Given the description of an element on the screen output the (x, y) to click on. 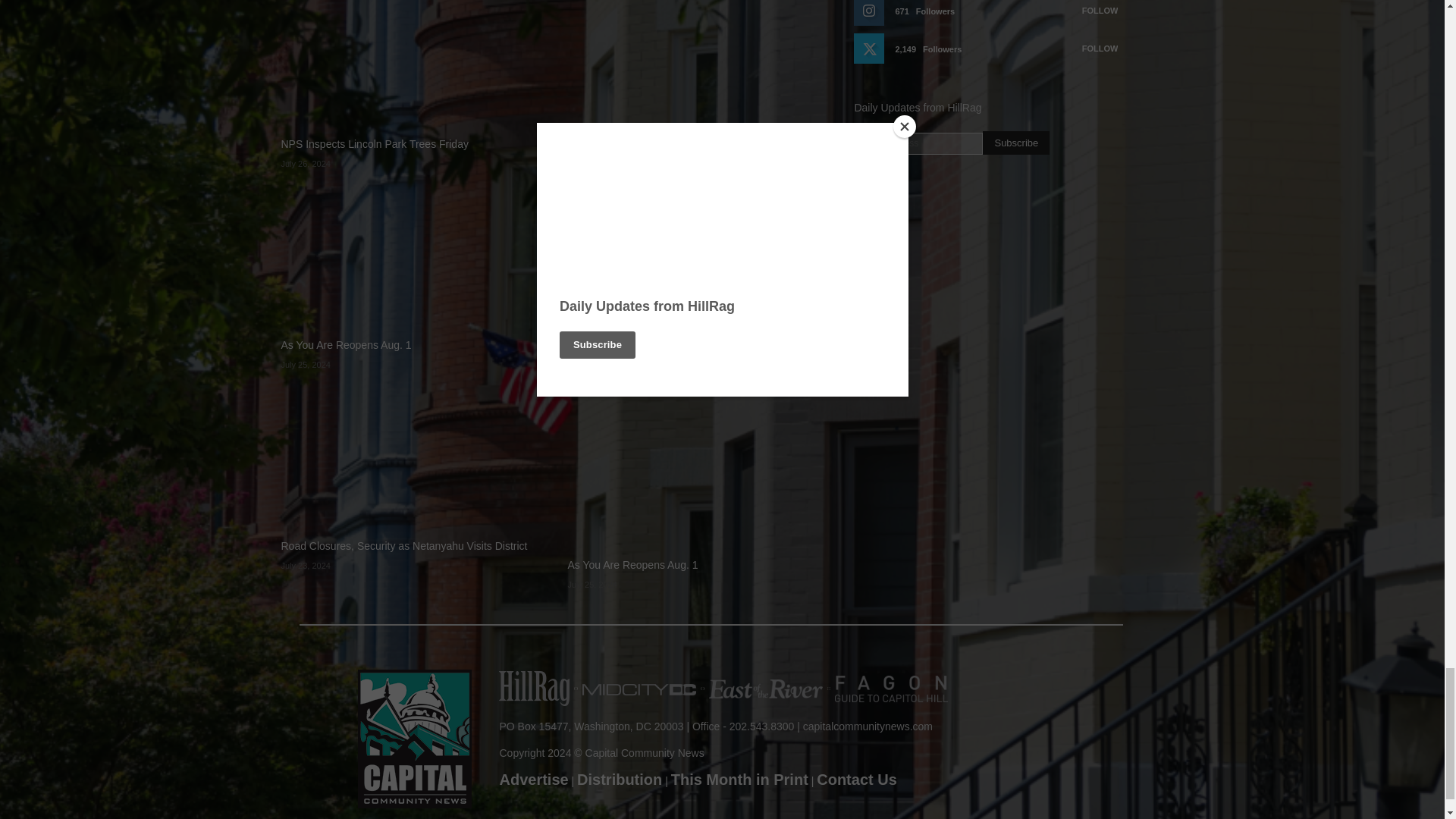
Subscribe (1015, 142)
